Given the description of an element on the screen output the (x, y) to click on. 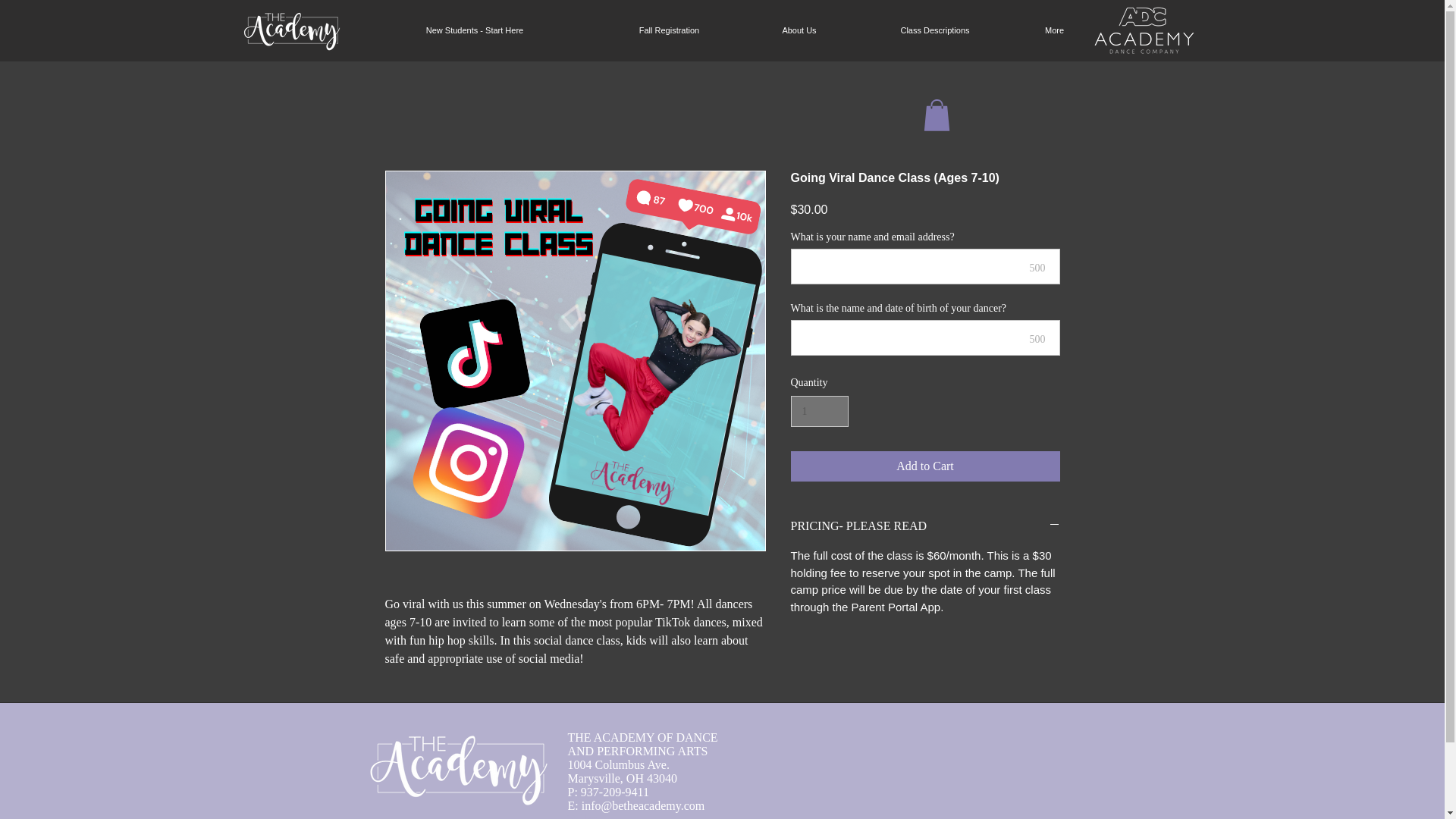
Add to Cart (924, 466)
About Us (799, 30)
PRICING- PLEASE READ (924, 525)
Fall Registration (669, 30)
Class Descriptions (934, 30)
1 (818, 410)
New Students - Start Here (474, 30)
